Given the description of an element on the screen output the (x, y) to click on. 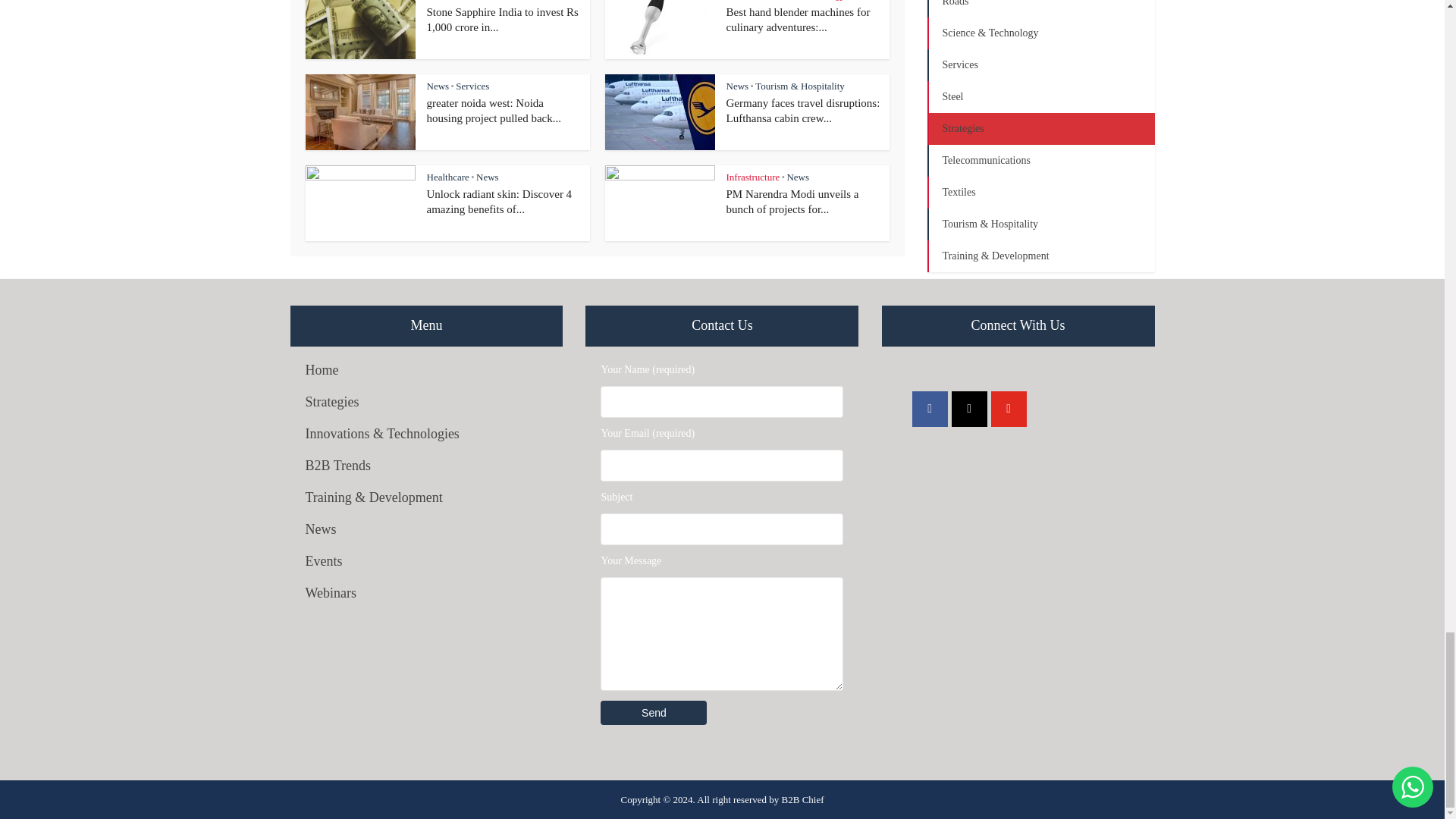
Send (652, 712)
